Given the description of an element on the screen output the (x, y) to click on. 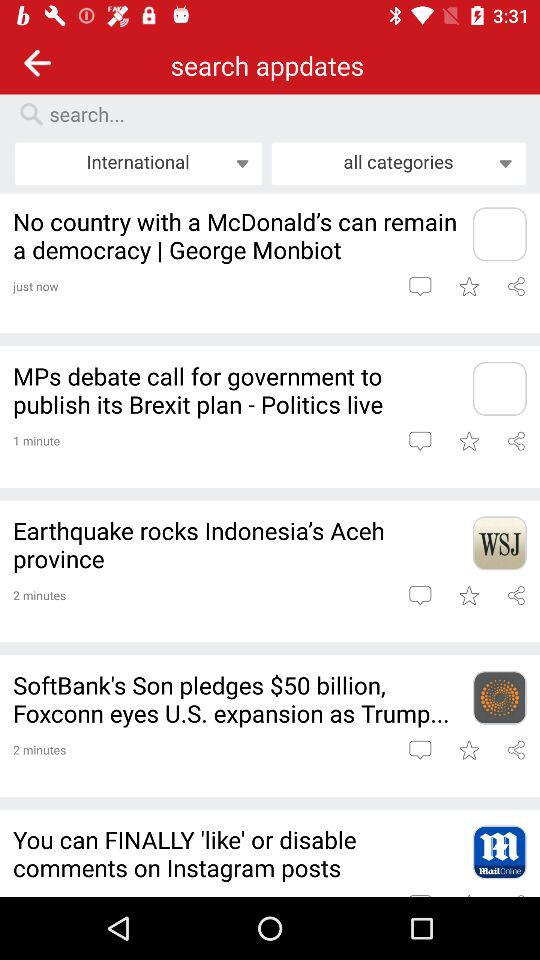
search box (279, 113)
